Given the description of an element on the screen output the (x, y) to click on. 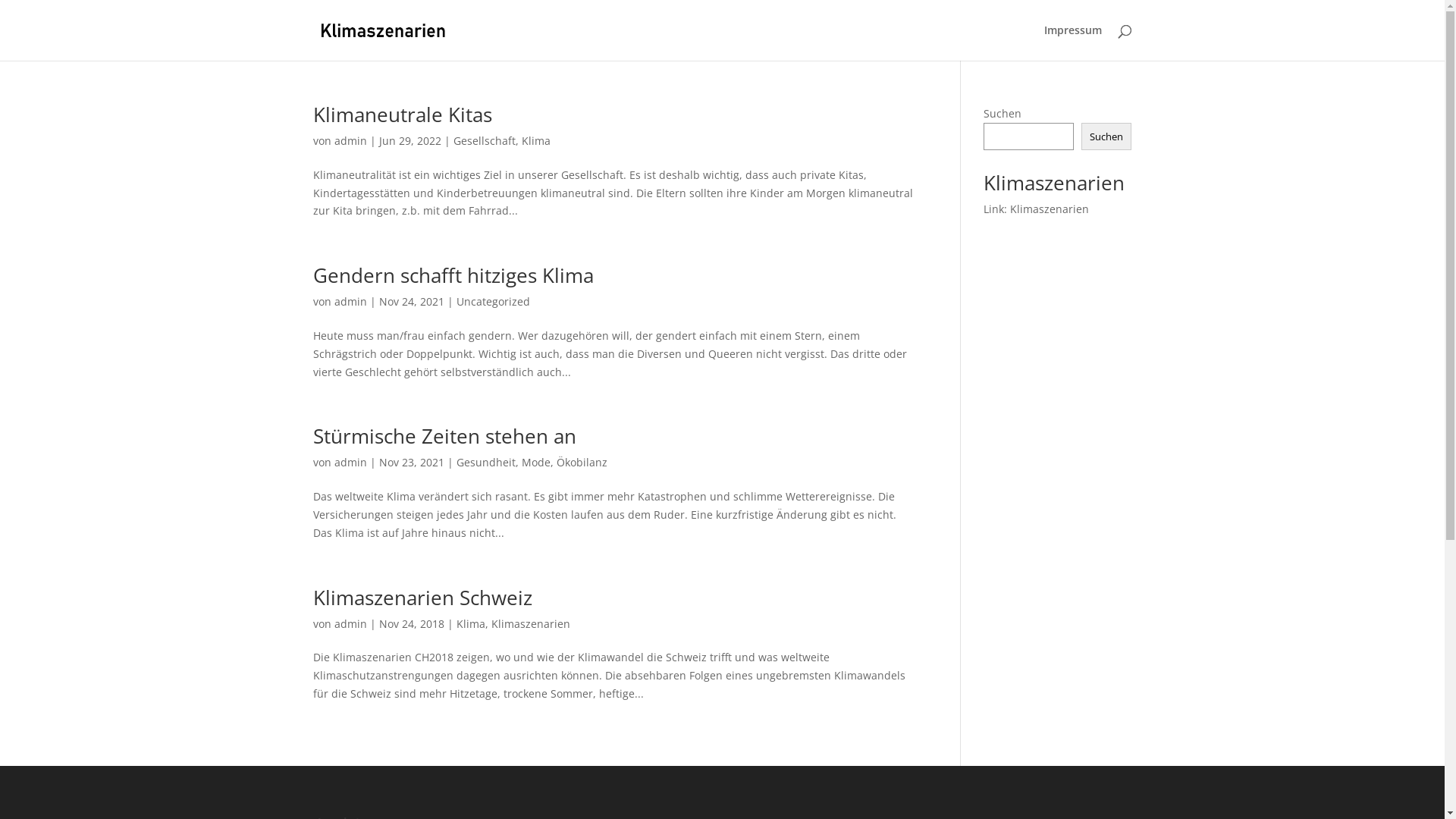
Gesundheit Element type: text (485, 462)
admin Element type: text (349, 462)
Klima Element type: text (535, 140)
Klimaszenarien Schweiz Element type: text (421, 597)
Suchen Element type: text (1106, 136)
Klima Element type: text (470, 623)
Klimaneutrale Kitas Element type: text (401, 114)
admin Element type: text (349, 140)
Impressum Element type: text (1072, 42)
Gendern schafft hitziges Klima Element type: text (452, 274)
Klimaszenarien Element type: text (1049, 208)
Uncategorized Element type: text (493, 301)
admin Element type: text (349, 301)
admin Element type: text (349, 623)
Gesellschaft Element type: text (484, 140)
Klimaszenarien Element type: text (530, 623)
Mode Element type: text (535, 462)
